Given the description of an element on the screen output the (x, y) to click on. 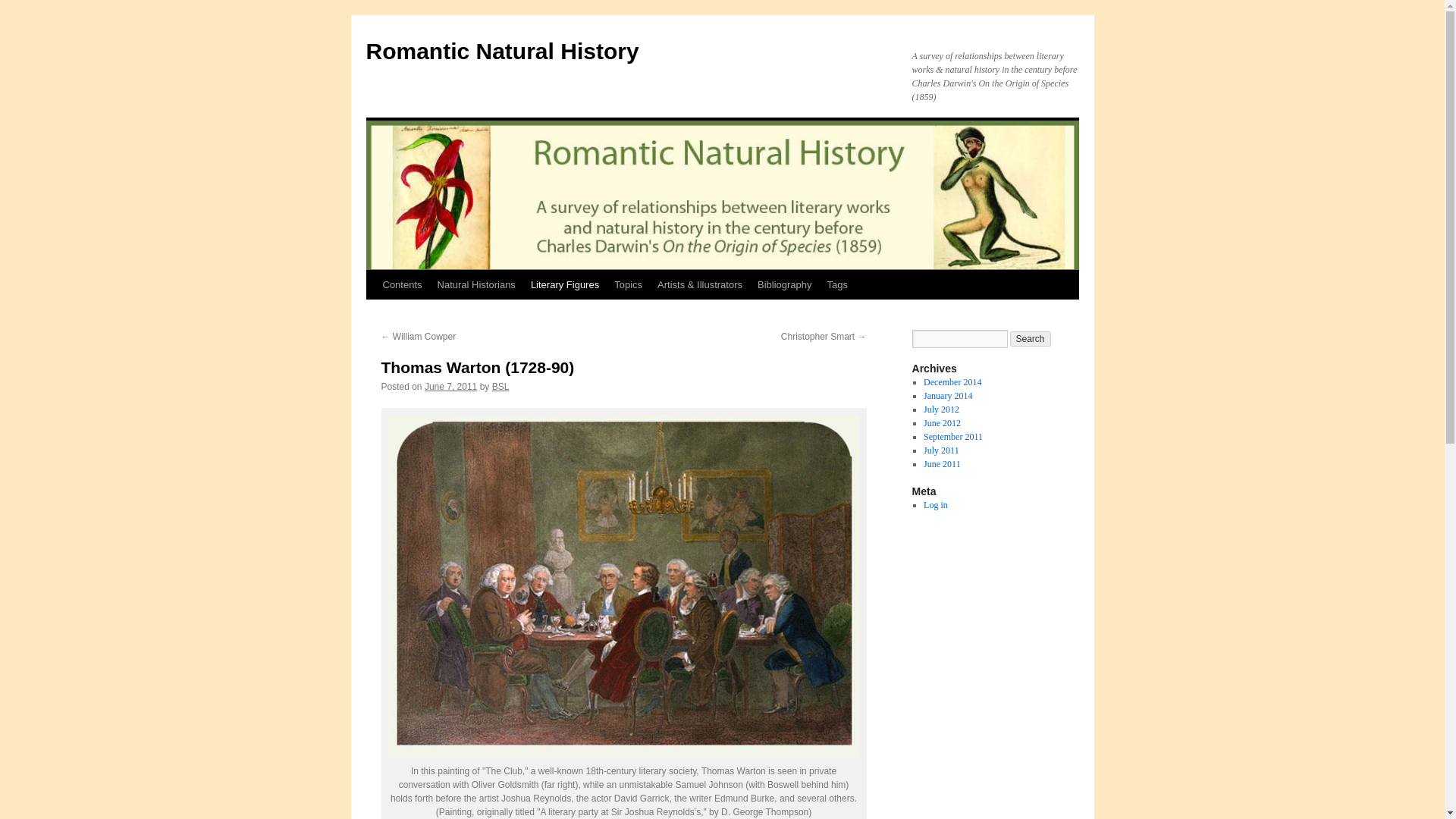
Contents (401, 285)
7:28 pm (451, 386)
View all posts by BSL (500, 386)
Literary Figures (564, 285)
Search (1030, 338)
Romantic Natural History (502, 50)
Natural Historians (475, 285)
